Given the description of an element on the screen output the (x, y) to click on. 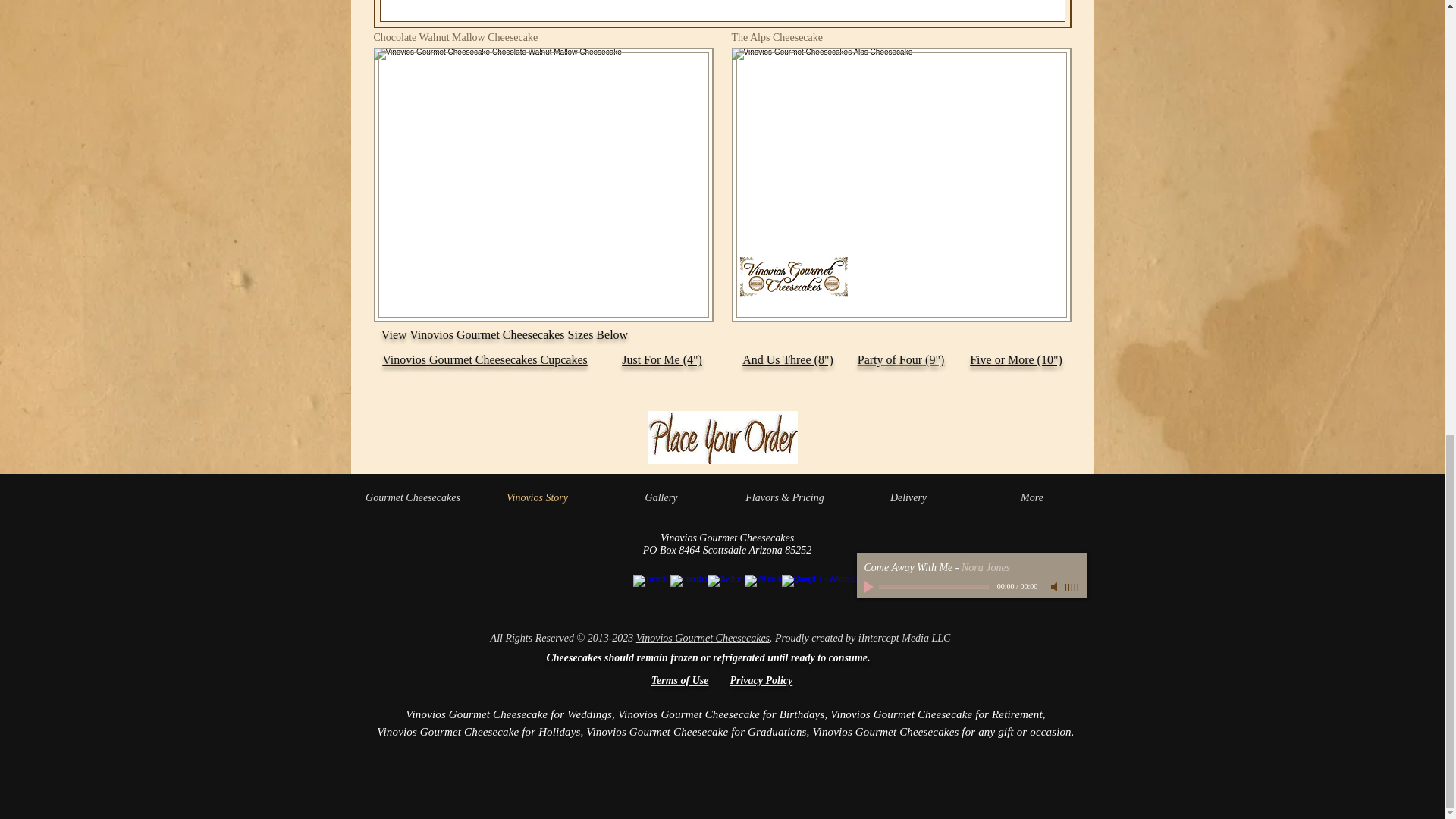
Vinovios Gourmet Cheesecakes (703, 637)
0 (932, 586)
Click to order (722, 437)
Gallery (660, 498)
Gourmet Cheesecakes (412, 498)
Vinovios Gourmet White Chocolate Alps Cheesecake (900, 184)
Vinovios Gourmet Cheesecakes Cupcakes (484, 358)
Vinovios Gourmet Chocolate Walnut Mallow Cheesecake (542, 184)
Delivery (907, 498)
Vinovios Story (536, 498)
